Given the description of an element on the screen output the (x, y) to click on. 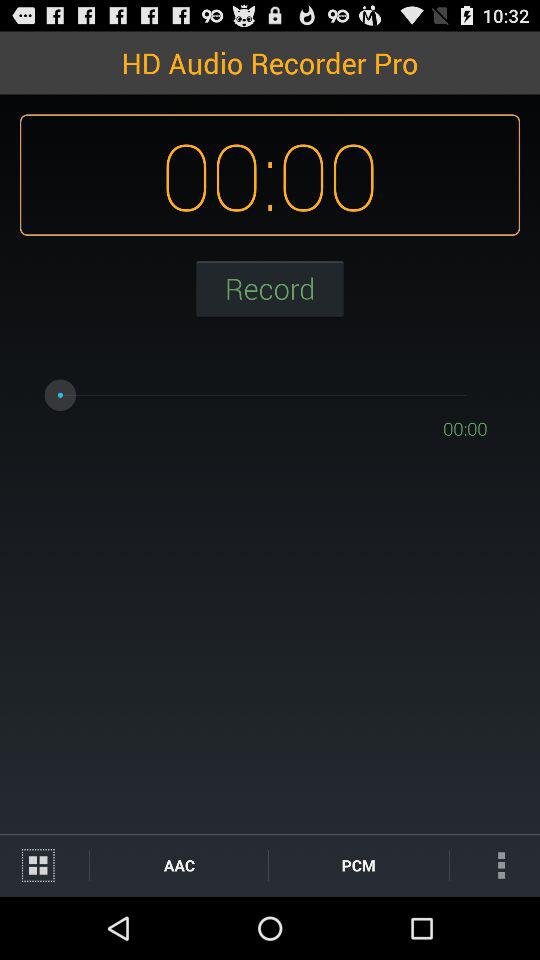
launch the icon below the 00:00 (269, 288)
